Given the description of an element on the screen output the (x, y) to click on. 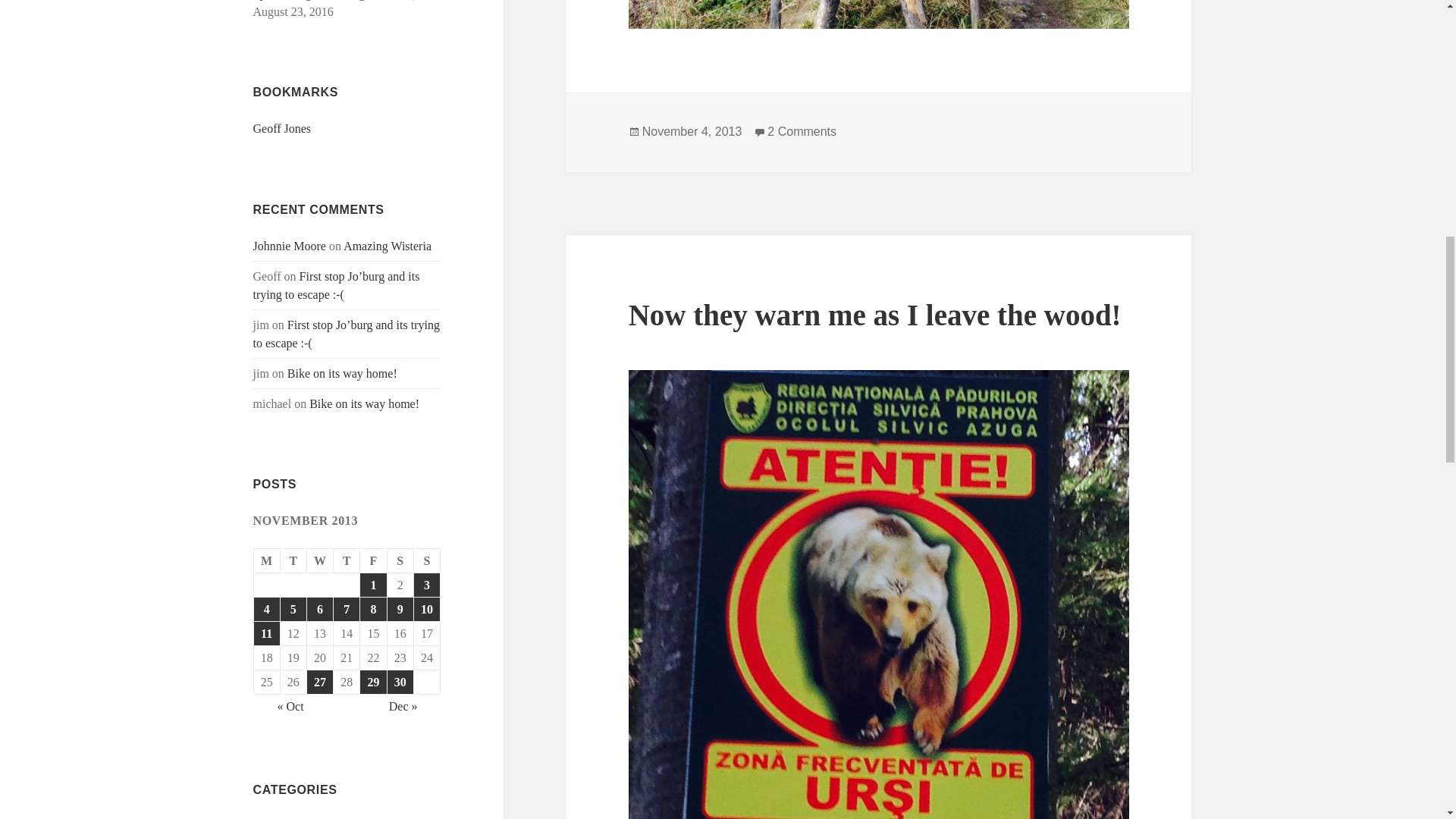
9 (400, 608)
photo3-jpg (878, 14)
Monday (267, 560)
10 (426, 608)
27 (320, 681)
Friday (373, 560)
3 (426, 585)
Geoff Jones (282, 128)
Saturday (400, 560)
Amazing Wisteria (386, 245)
